Given the description of an element on the screen output the (x, y) to click on. 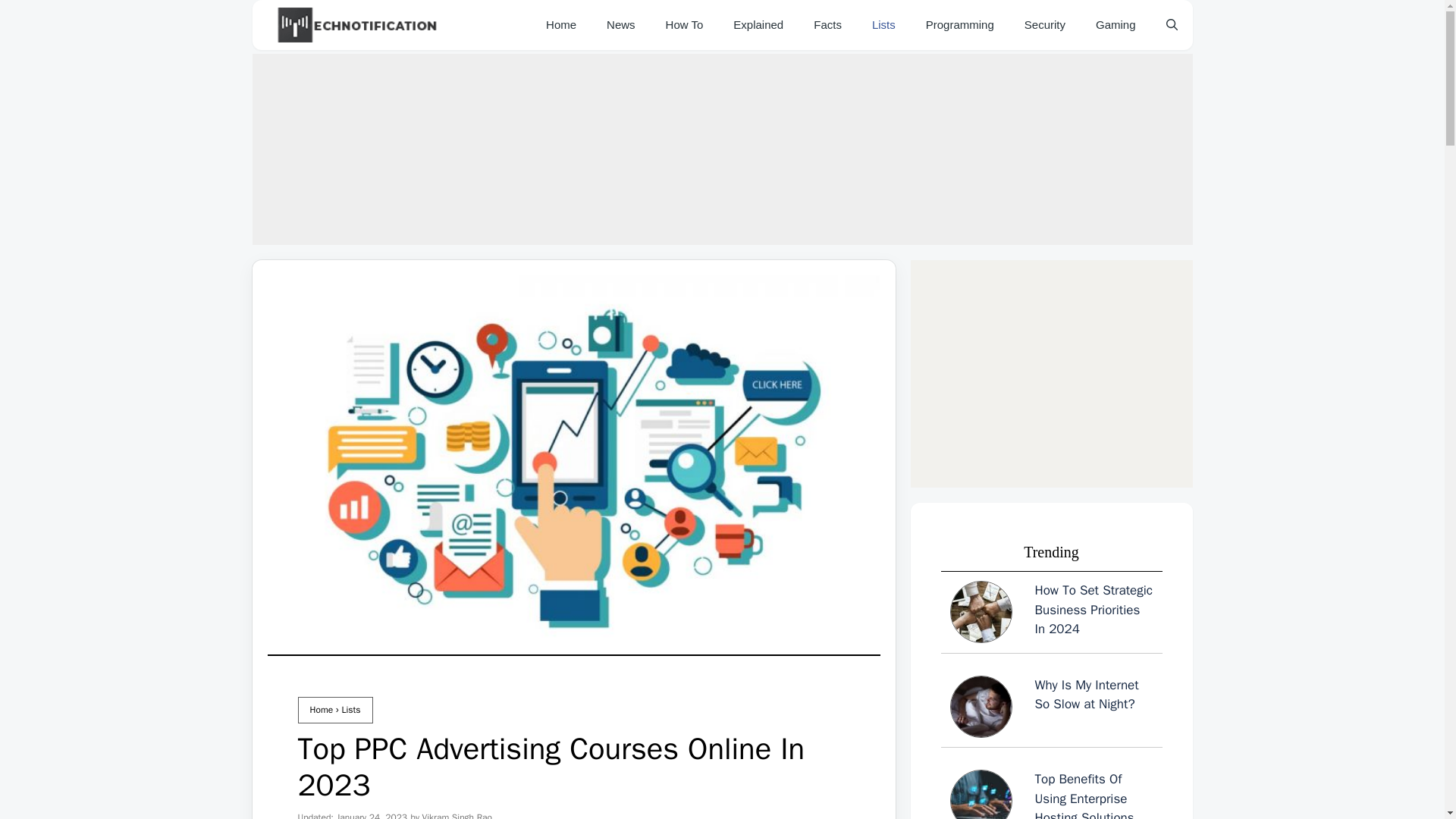
How To Set Strategic Business Priorities In 2024 (1051, 614)
Top Lists (884, 24)
Explained (757, 24)
Why Is My Internet So Slow at Night? (1051, 708)
Home (320, 709)
Facts (827, 24)
Security (1044, 24)
Top Benefits Of Using Enterprise Hosting Solutions (1051, 794)
Home (561, 24)
Technotification (358, 24)
